Given the description of an element on the screen output the (x, y) to click on. 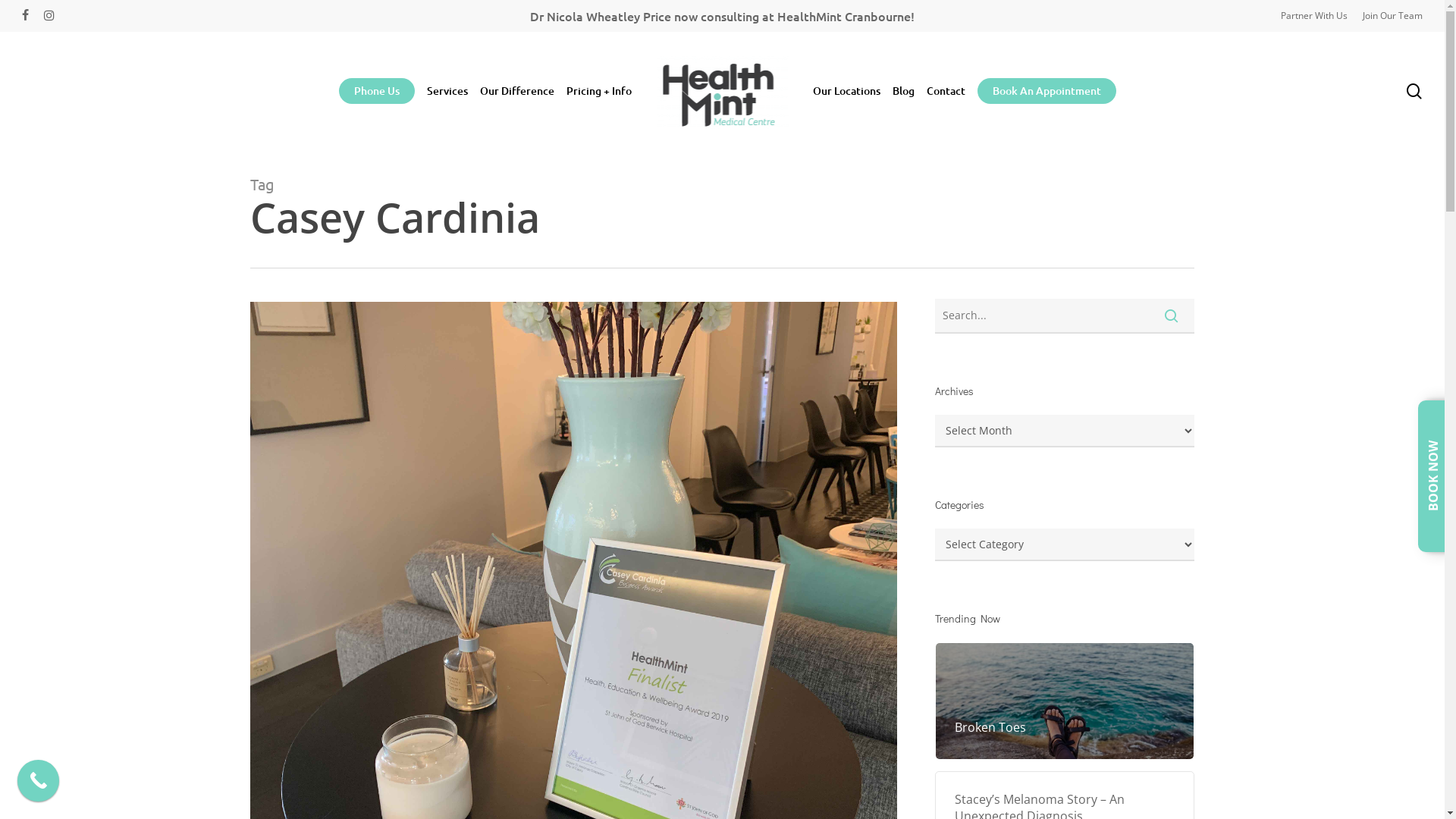
facebook Element type: text (24, 15)
Contact Element type: text (945, 90)
Our Difference Element type: text (516, 90)
instagram Element type: text (48, 15)
Partner With Us Element type: text (1313, 15)
Search for: Element type: hover (1064, 315)
Services Element type: text (446, 90)
Blog Element type: text (902, 90)
Our Locations Element type: text (846, 90)
Join Our Team Element type: text (1392, 15)
Broken Toes Element type: text (1064, 726)
Book An Appointment Element type: text (1045, 90)
Phone Us Element type: text (376, 90)
Pricing + Info Element type: text (598, 90)
search Element type: text (1414, 91)
call Element type: text (38, 780)
